Given the description of an element on the screen output the (x, y) to click on. 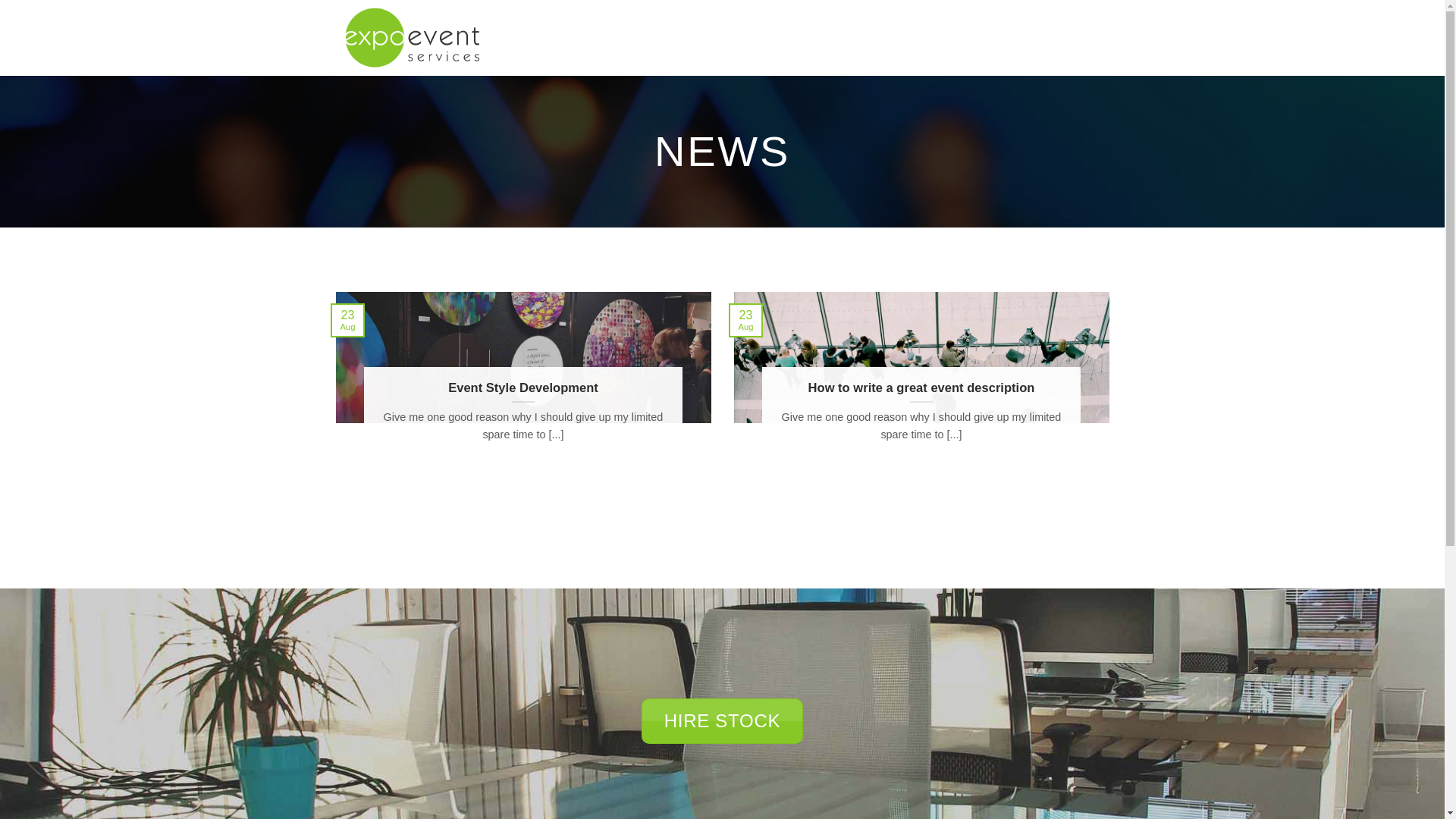
HIRE STOCK Element type: text (722, 720)
